Given the description of an element on the screen output the (x, y) to click on. 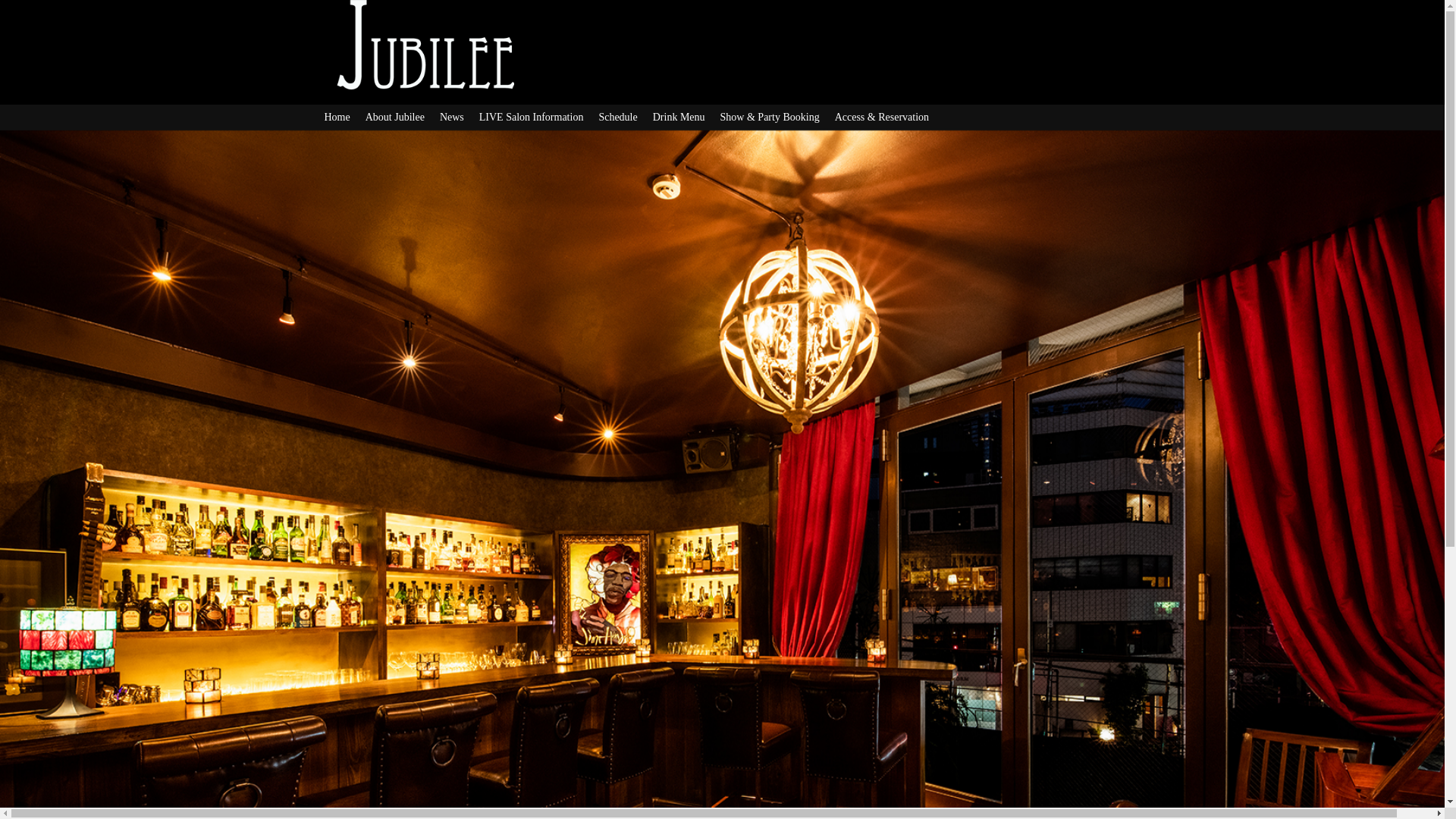
About Jubilee Element type: text (402, 117)
Show & Party Booking Element type: text (777, 117)
Home Element type: text (344, 117)
Access & Reservation Element type: text (889, 117)
News Element type: text (459, 117)
LIVE Salon Information Element type: text (539, 117)
Schedule Element type: text (625, 117)
Drink Menu Element type: text (686, 117)
